Given the description of an element on the screen output the (x, y) to click on. 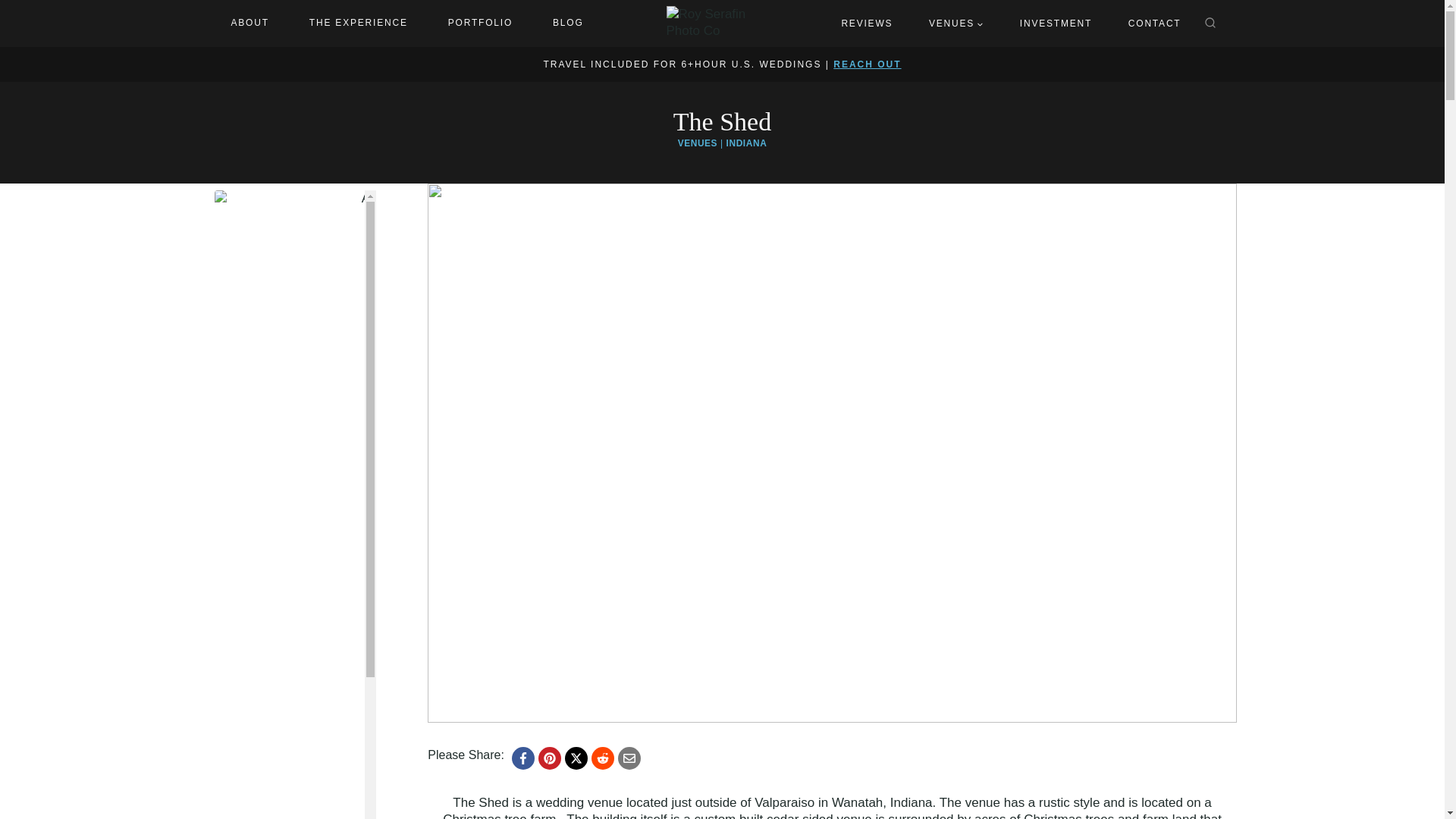
REVIEWS (866, 22)
VENUES (697, 143)
INDIANA (746, 143)
VENUES (956, 22)
BLOG (567, 23)
INVESTMENT (1055, 22)
CONTACT (1155, 22)
ABOUT (249, 23)
THE EXPERIENCE (357, 23)
REACH OUT (866, 63)
PORTFOLIO (480, 23)
